Given the description of an element on the screen output the (x, y) to click on. 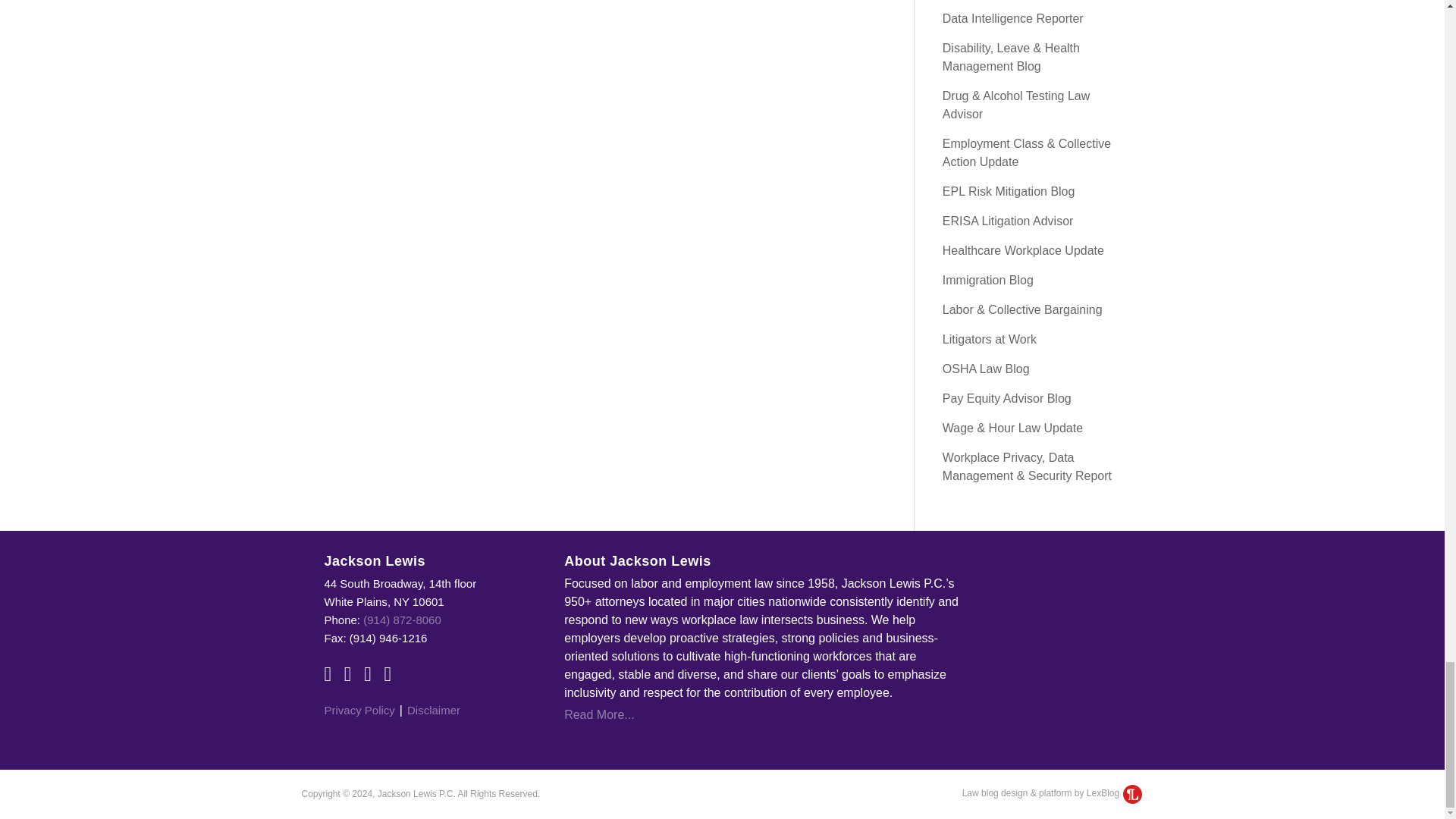
LexBlog Logo (1131, 793)
data-intelligence-reporter (1012, 18)
disability-leave-health-management-blog (1011, 56)
litigators-at-work (989, 338)
immigration-blog (987, 279)
drug-alcohol-testing-law-advisor (1015, 104)
healthcare-workplace-update (1022, 250)
employment-class-collective-action-update (1026, 152)
epl-risk-mitigation-blog (1008, 191)
labor-collective-bargaining (1022, 309)
